Given the description of an element on the screen output the (x, y) to click on. 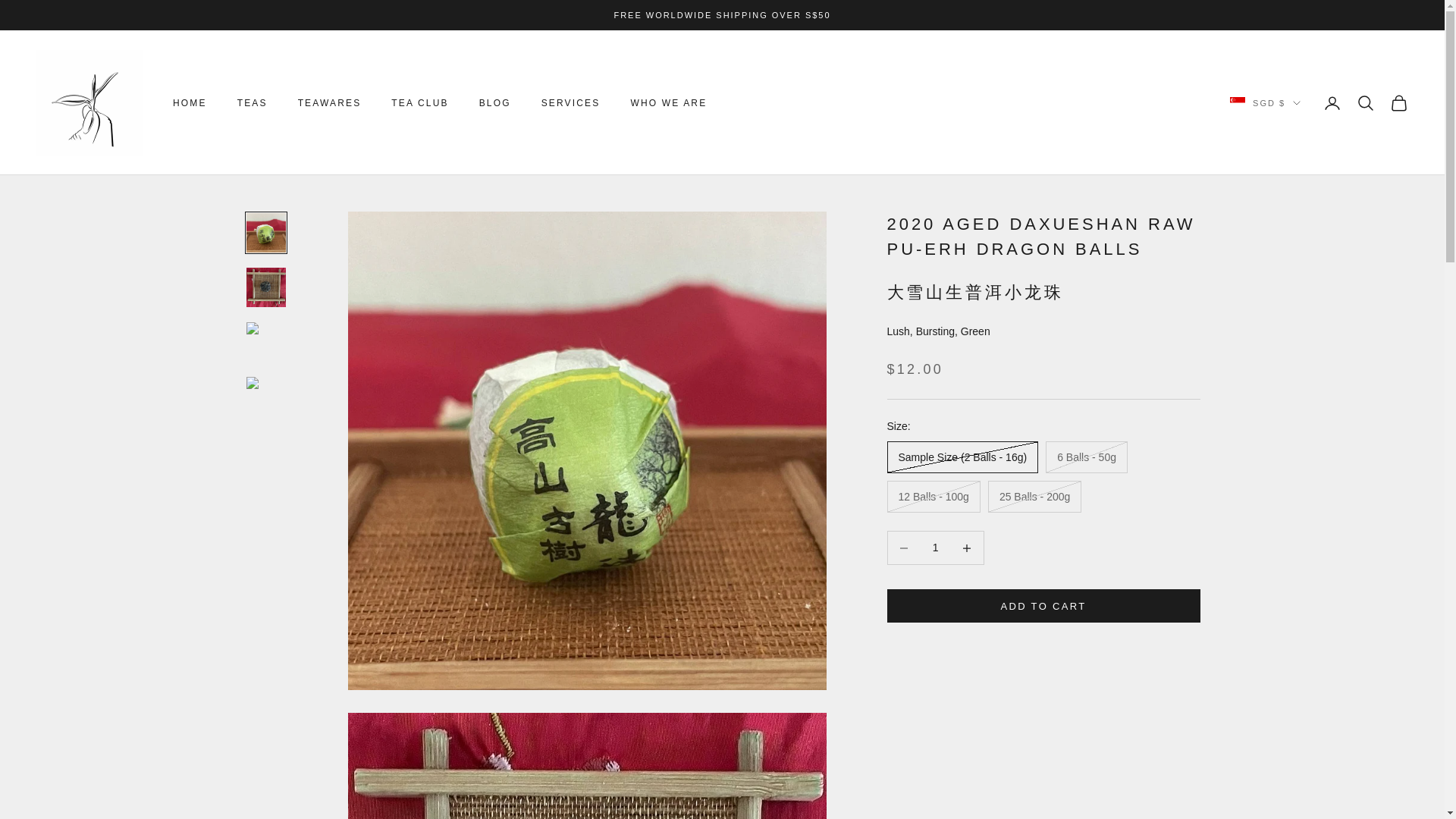
TEAWARES (329, 102)
Sipscollection (89, 102)
TEA CLUB (419, 102)
SERVICES (570, 102)
HOME (189, 102)
BLOG (495, 102)
1 (935, 547)
